Given the description of an element on the screen output the (x, y) to click on. 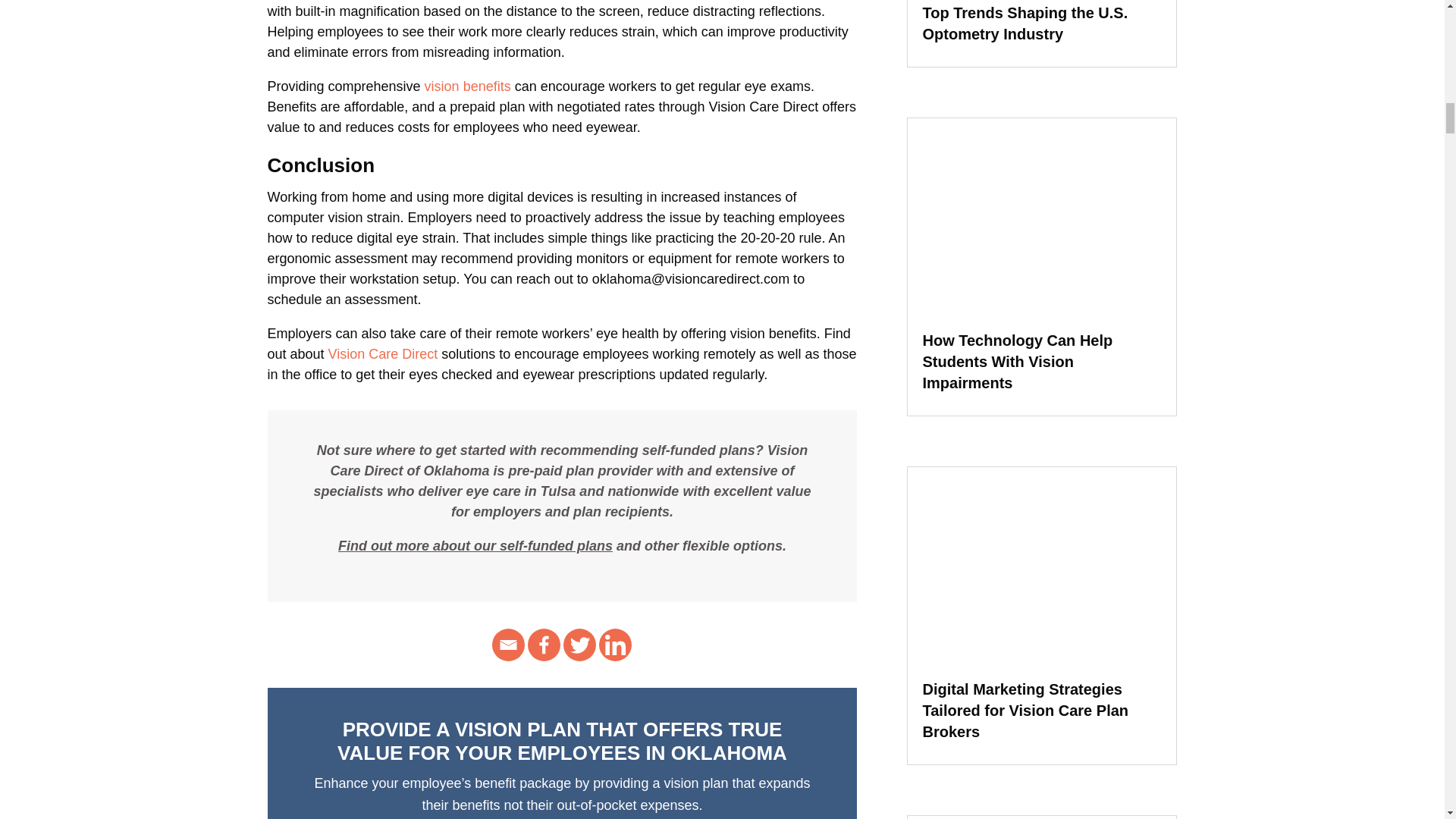
Twitter (579, 644)
Email (508, 644)
Facebook (543, 644)
Linkedin (614, 644)
